Given the description of an element on the screen output the (x, y) to click on. 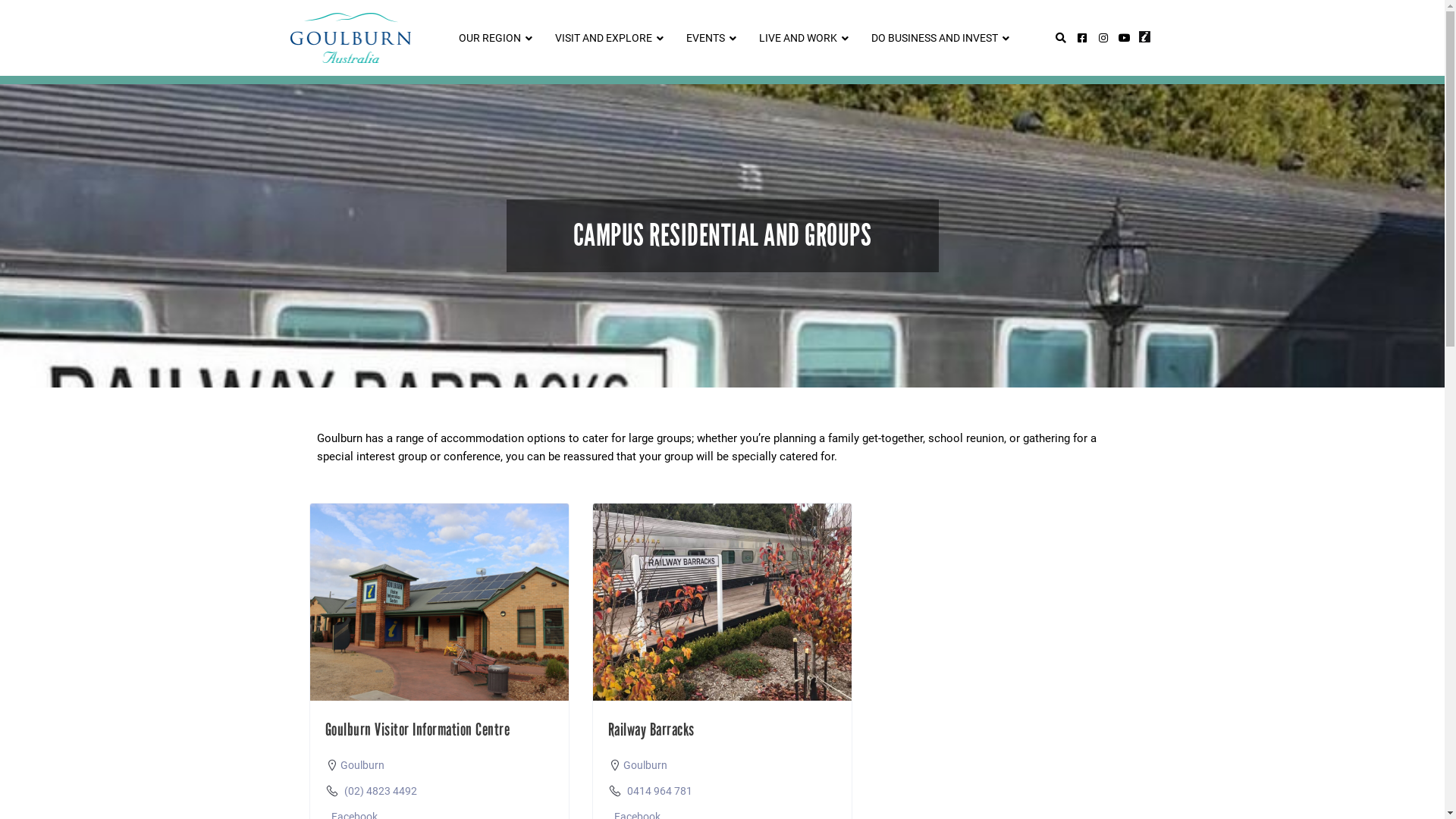
Goulburn Element type: text (361, 765)
EVENTS Element type: text (707, 37)
Goulburn Element type: text (645, 765)
(02) 4823 4492 Element type: text (380, 790)
VISIT AND EXPLORE Element type: text (605, 37)
DO BUSINESS AND INVEST Element type: text (936, 37)
OUR REGION Element type: text (491, 37)
0414 964 781 Element type: text (659, 790)
LIVE AND WORK Element type: text (799, 37)
